Given the description of an element on the screen output the (x, y) to click on. 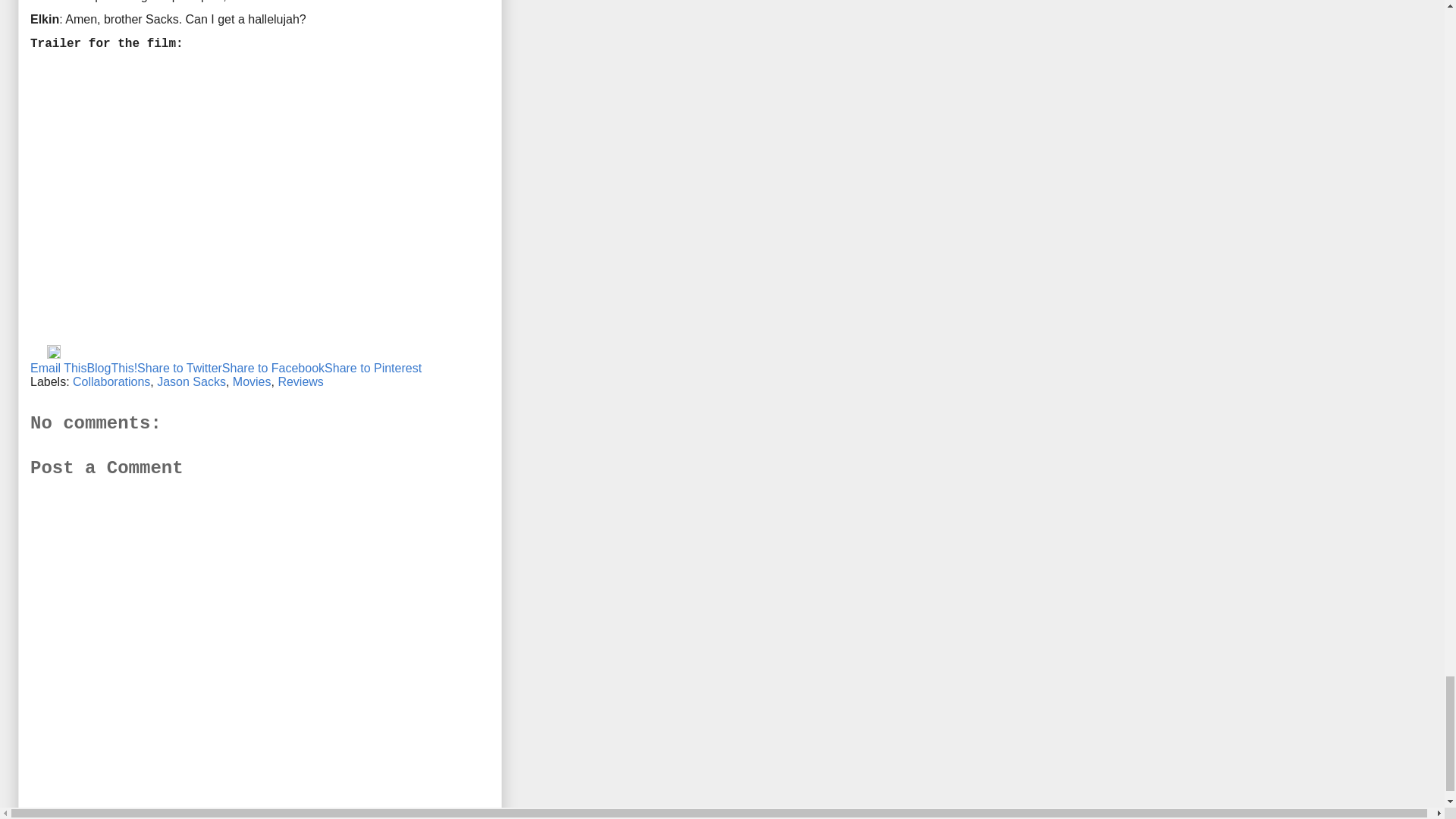
BlogThis! (110, 367)
Collaborations (110, 381)
Share to Pinterest (373, 367)
Share to Twitter (179, 367)
Share to Pinterest (373, 367)
Share to Facebook (273, 367)
BlogThis! (110, 367)
Email Post (38, 354)
Edit Post (53, 354)
Email This (57, 367)
